Given the description of an element on the screen output the (x, y) to click on. 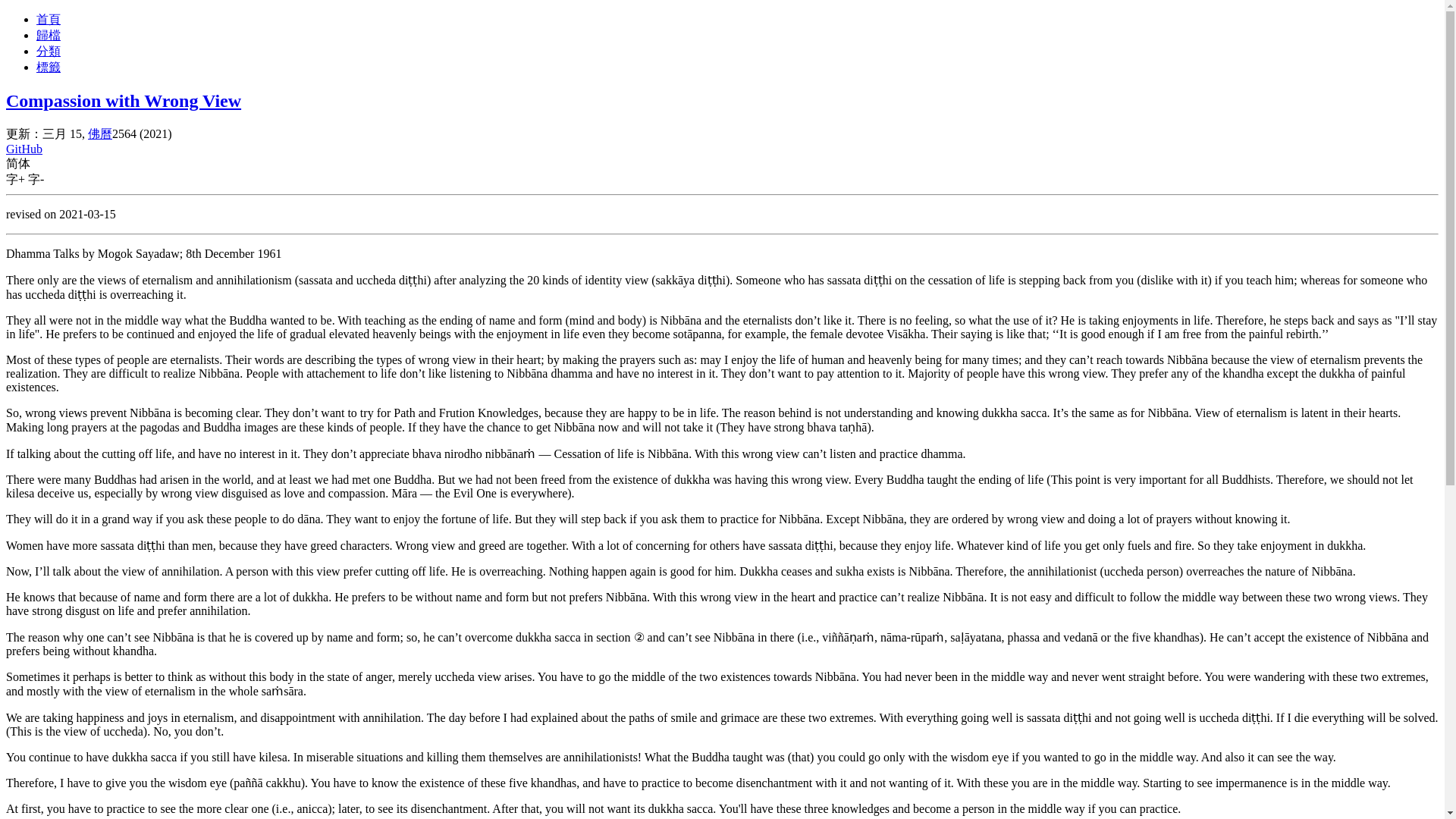
Permalink to Compassion with Wrong View (123, 100)
Compassion with Wrong View (123, 100)
GitHub (23, 148)
